Given the description of an element on the screen output the (x, y) to click on. 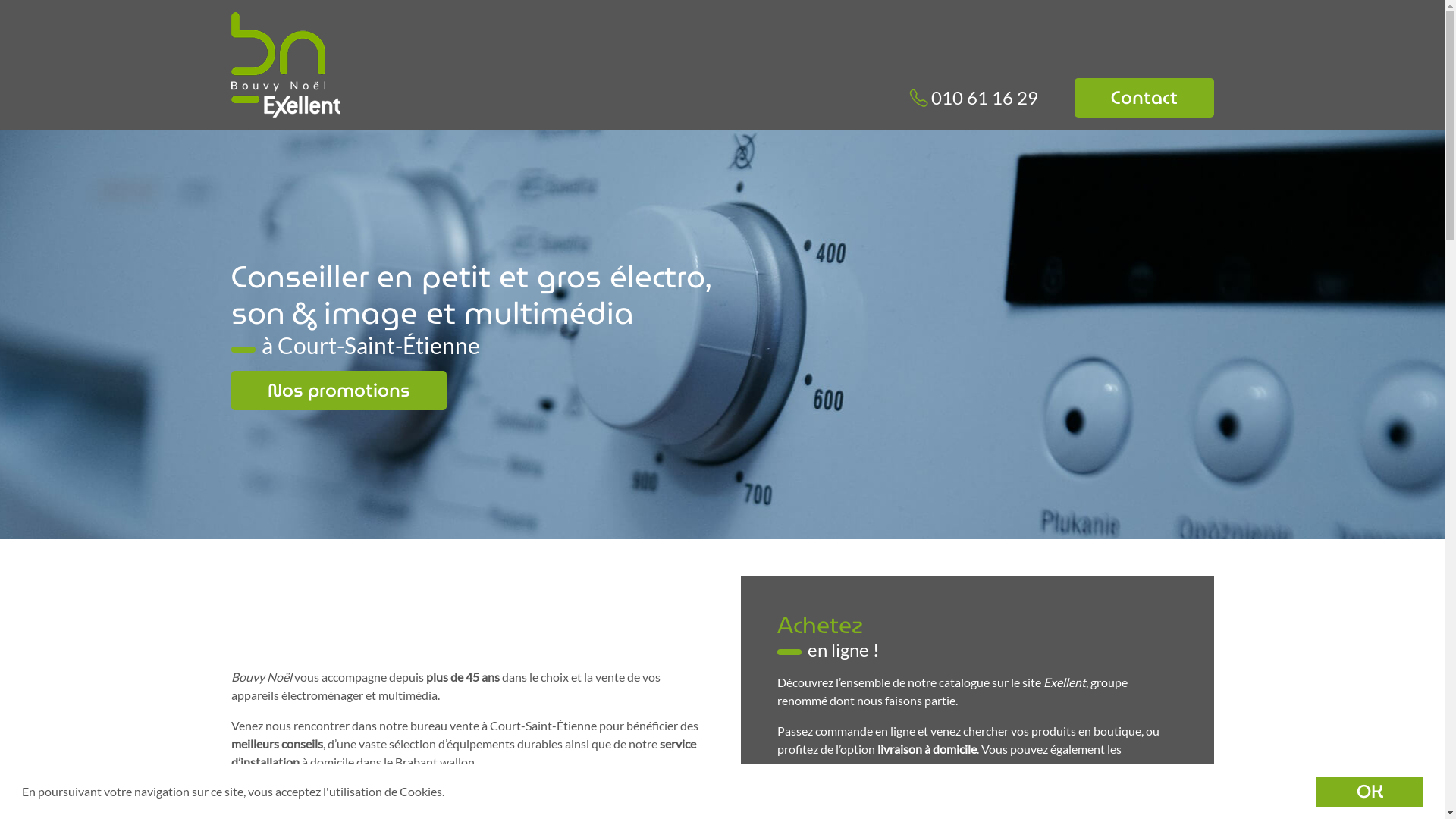
Contact Element type: text (1143, 97)
OK Element type: text (1369, 791)
Nos promotions Element type: text (337, 390)
010 61 16 29 Element type: text (974, 97)
